Given the description of an element on the screen output the (x, y) to click on. 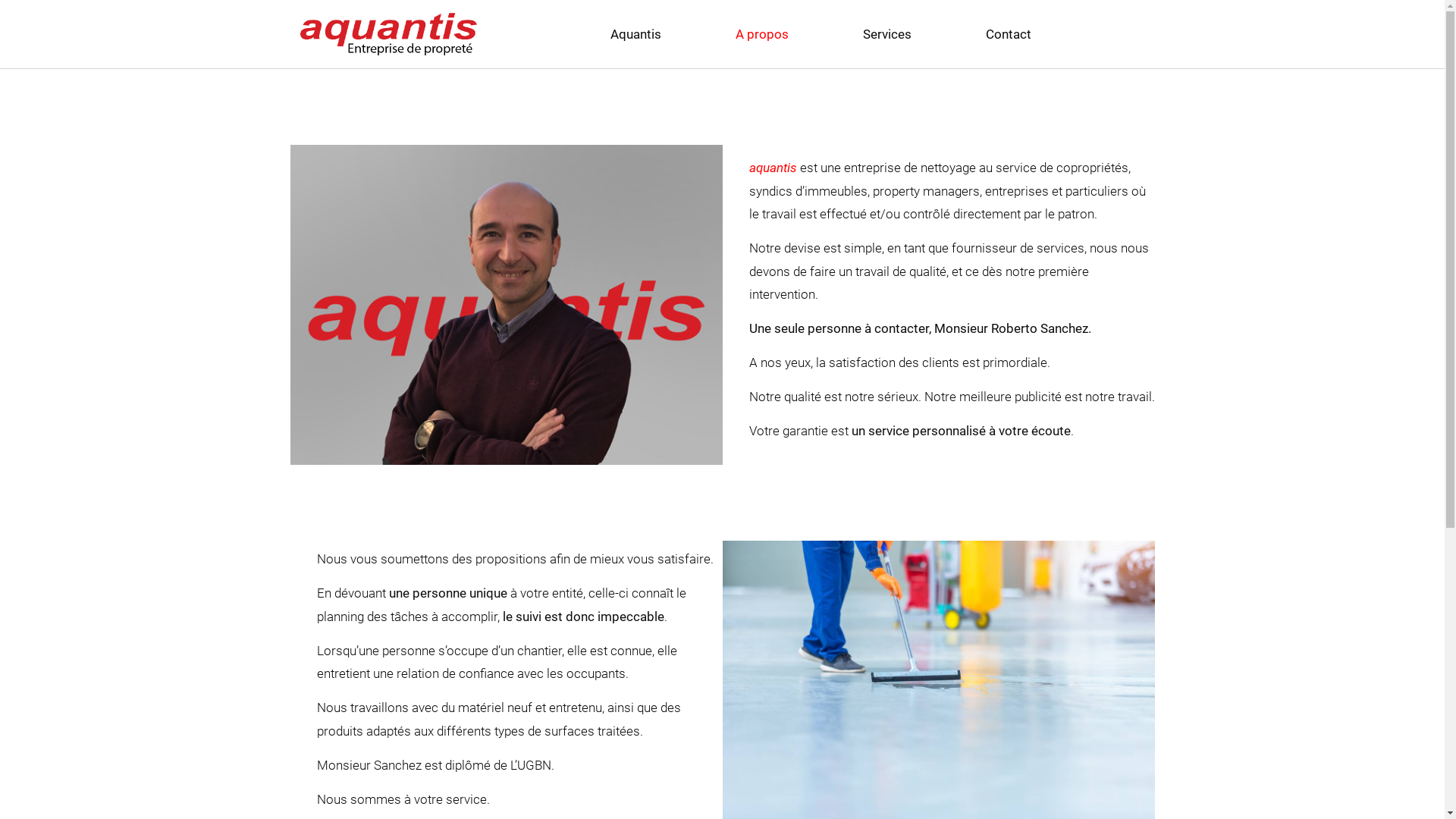
A propos Element type: text (761, 33)
Contact Element type: text (1007, 33)
Services Element type: text (886, 33)
Aquantis Element type: text (635, 33)
